Given the description of an element on the screen output the (x, y) to click on. 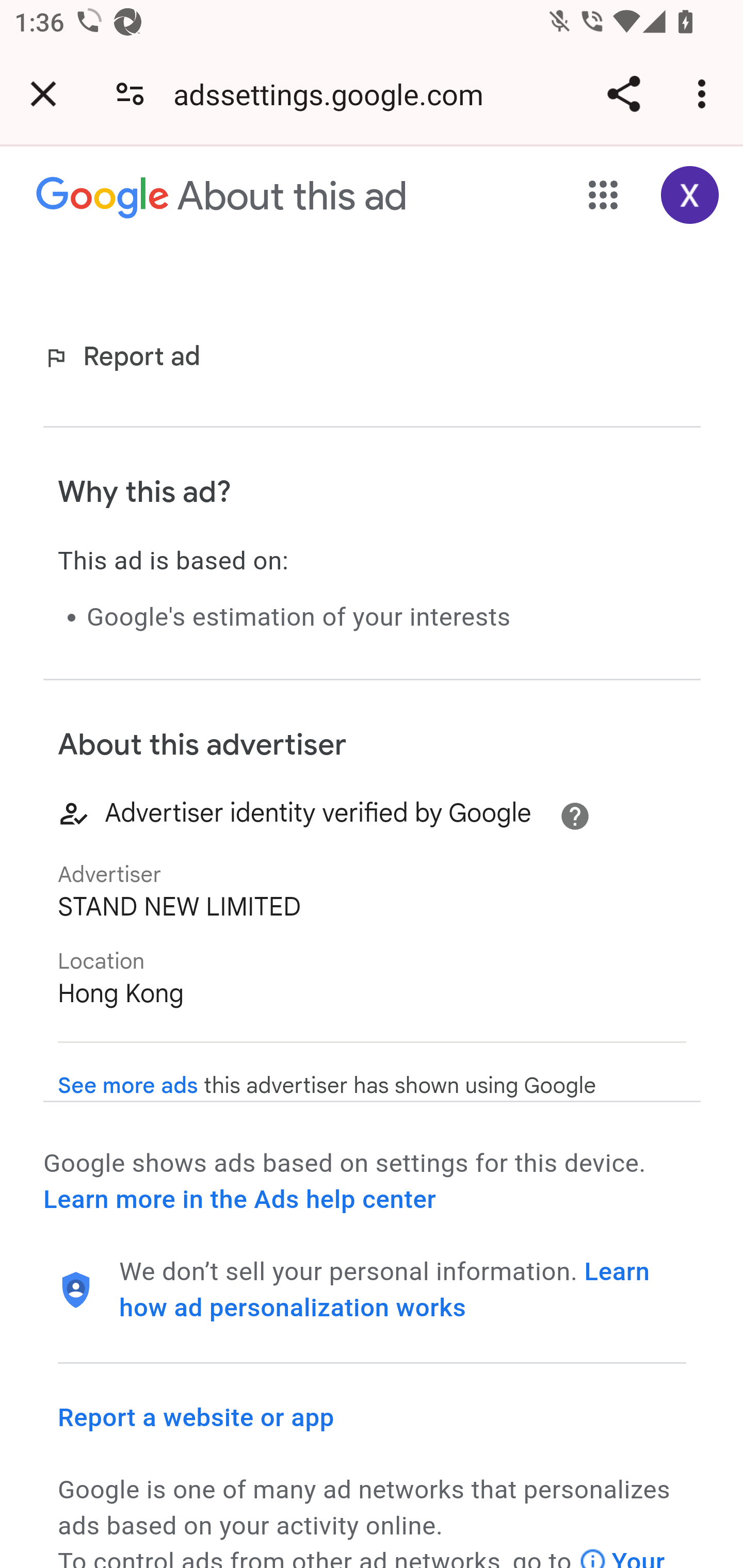
Close tab (43, 93)
Share (623, 93)
Customize and control Google Chrome (705, 93)
Connection is secure (129, 93)
adssettings.google.com (335, 93)
Google apps (603, 195)
Google Account: Xiaoran (zxrappiumtest@gmail.com) (690, 195)
Report ad (opens in new tab) Report ad (126, 357)
See more ads (opens in new tab) See more ads (127, 1085)
Learn more in the Ads help center (239, 1199)
Learn how ad personalization works (384, 1289)
Report a website or app (196, 1416)
